Given the description of an element on the screen output the (x, y) to click on. 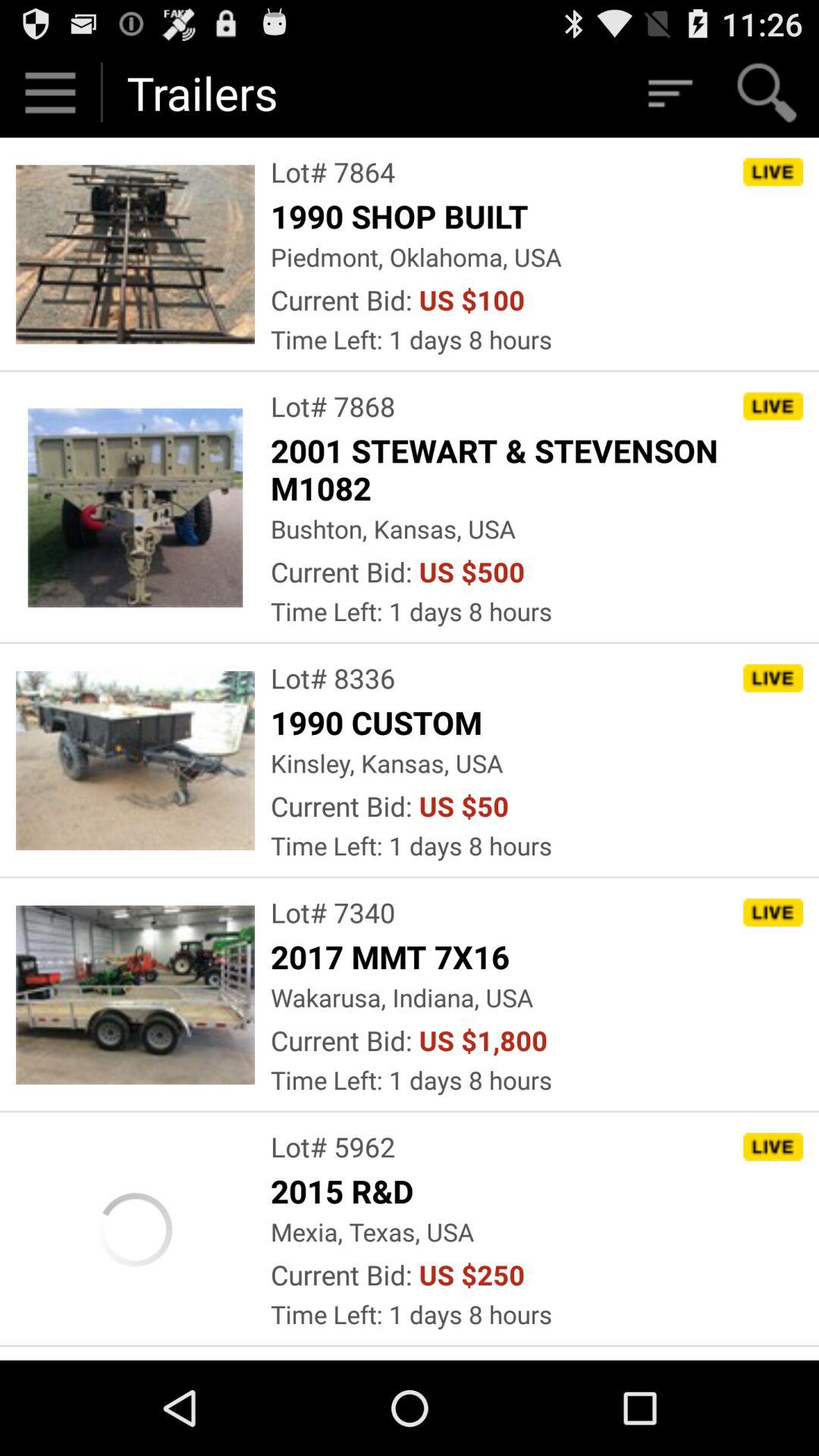
select the item to the right of current bid:  app (483, 1040)
